Given the description of an element on the screen output the (x, y) to click on. 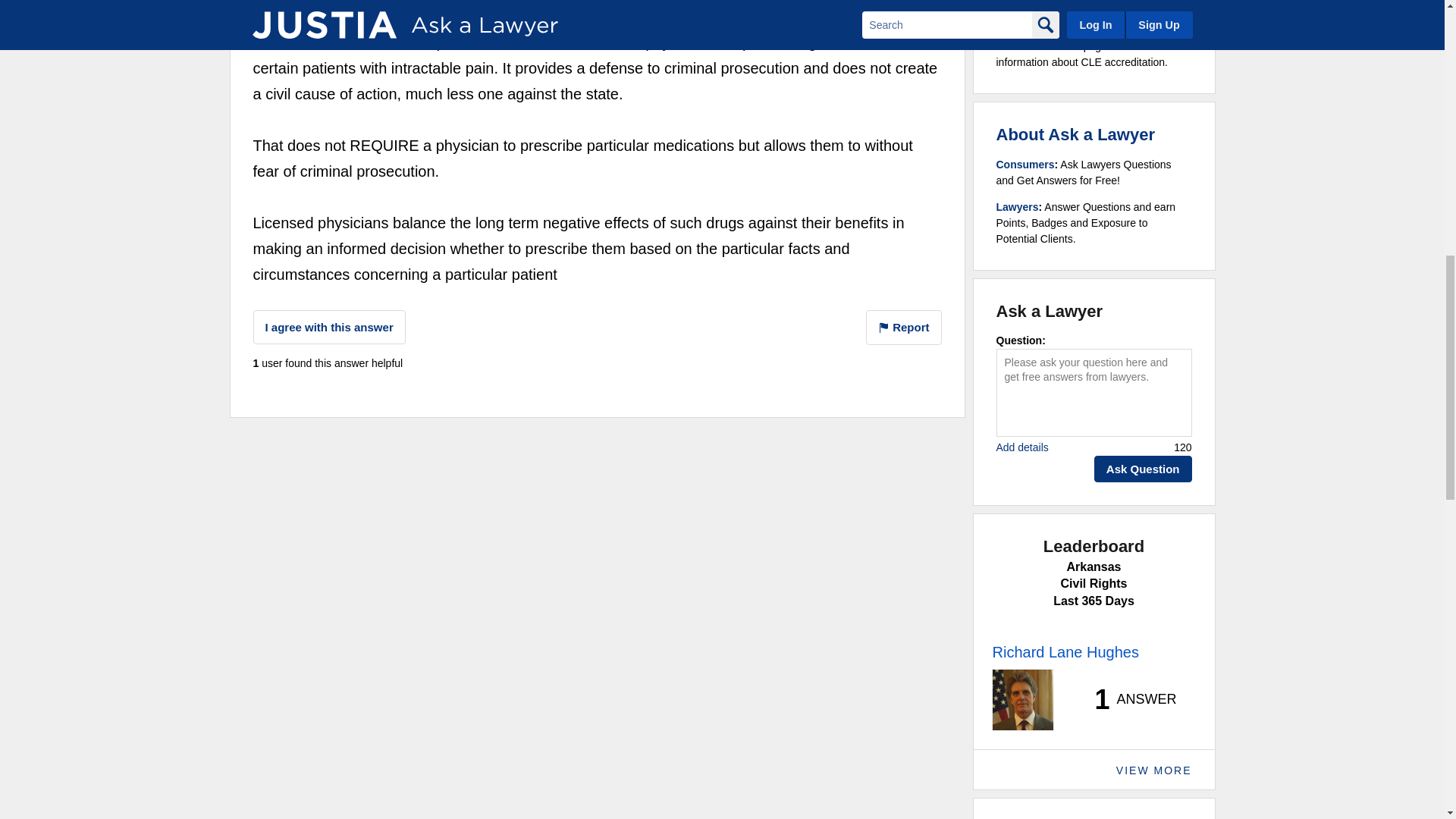
Ask a Lawyer - Leaderboard - Lawyer Photo (1021, 699)
Ask a Lawyer - Leaderboard - Lawyer Name (1064, 651)
Ask a Lawyer - FAQs - Consumers (1024, 164)
Ask a Lawyer - FAQs - Lawyers (1017, 206)
view website (671, 1)
John Michael Frick (313, 3)
Ask a Lawyer - Leaderboard - Lawyer Stats (1127, 699)
